Given the description of an element on the screen output the (x, y) to click on. 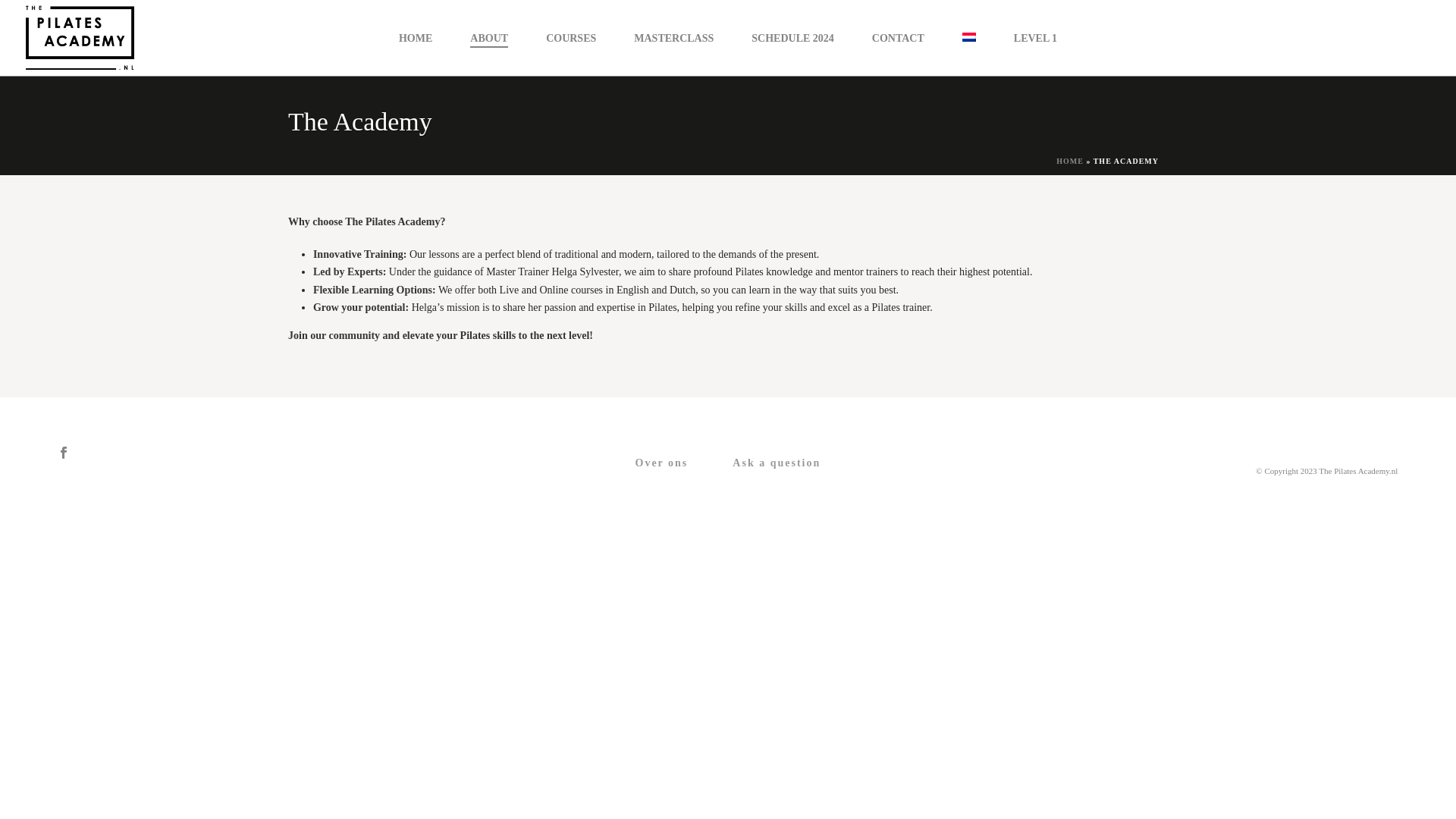
Pilates Academy (79, 38)
Over ons (662, 463)
ABOUT (489, 38)
HOME (1070, 161)
COURSES (570, 38)
Nederlands (968, 36)
CONTACT (898, 38)
SCHEDULE 2024 (792, 38)
LEVEL 1 (1034, 38)
LEVEL 1 (1034, 38)
